Given the description of an element on the screen output the (x, y) to click on. 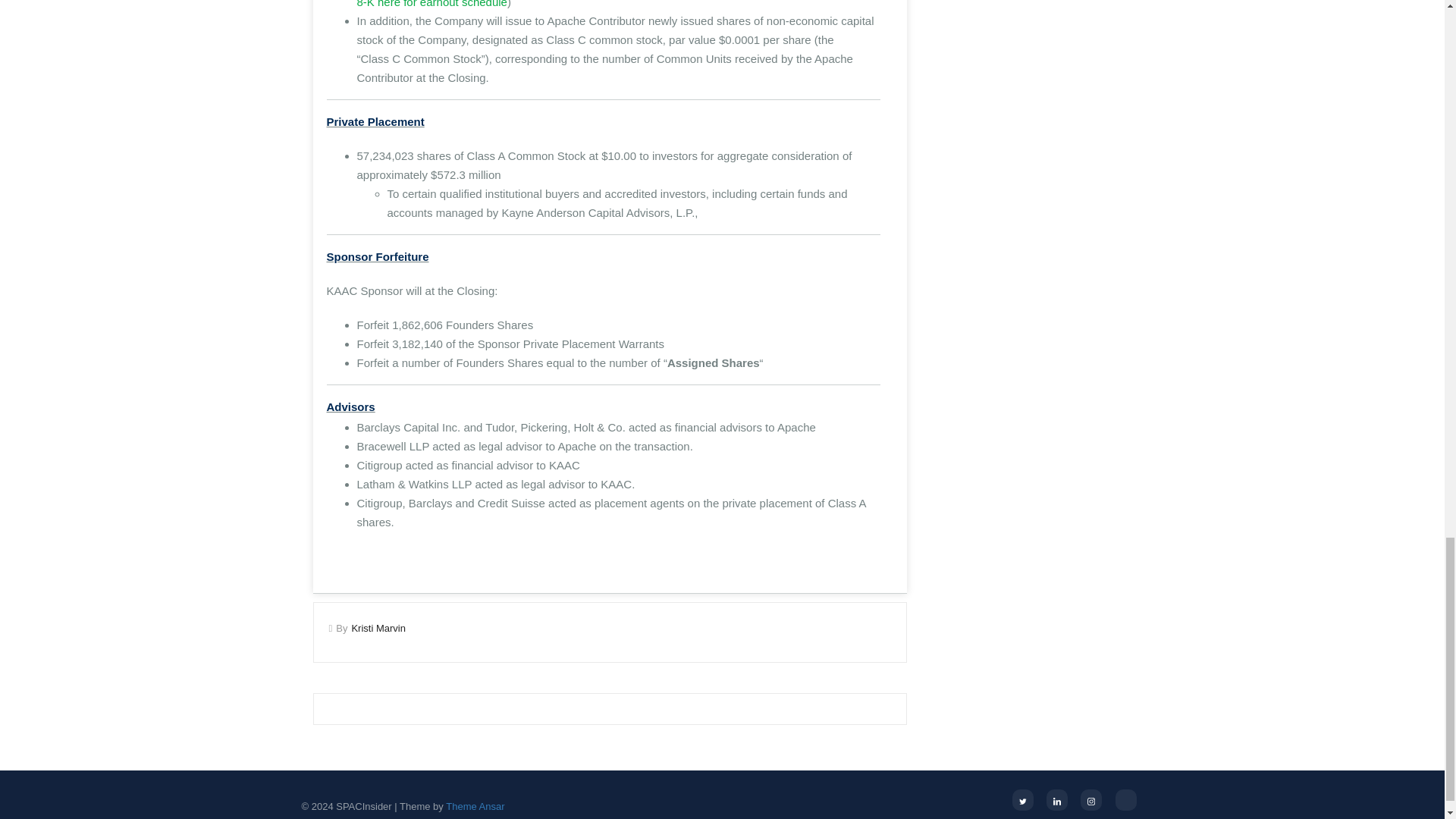
see 8-K here for earnout schedule (611, 4)
Twitter (1022, 799)
Kristi Marvin (378, 627)
Apple Podcasts (1125, 799)
Instagram (1091, 799)
LinkedIn (1056, 799)
Theme Ansar (474, 806)
